Given the description of an element on the screen output the (x, y) to click on. 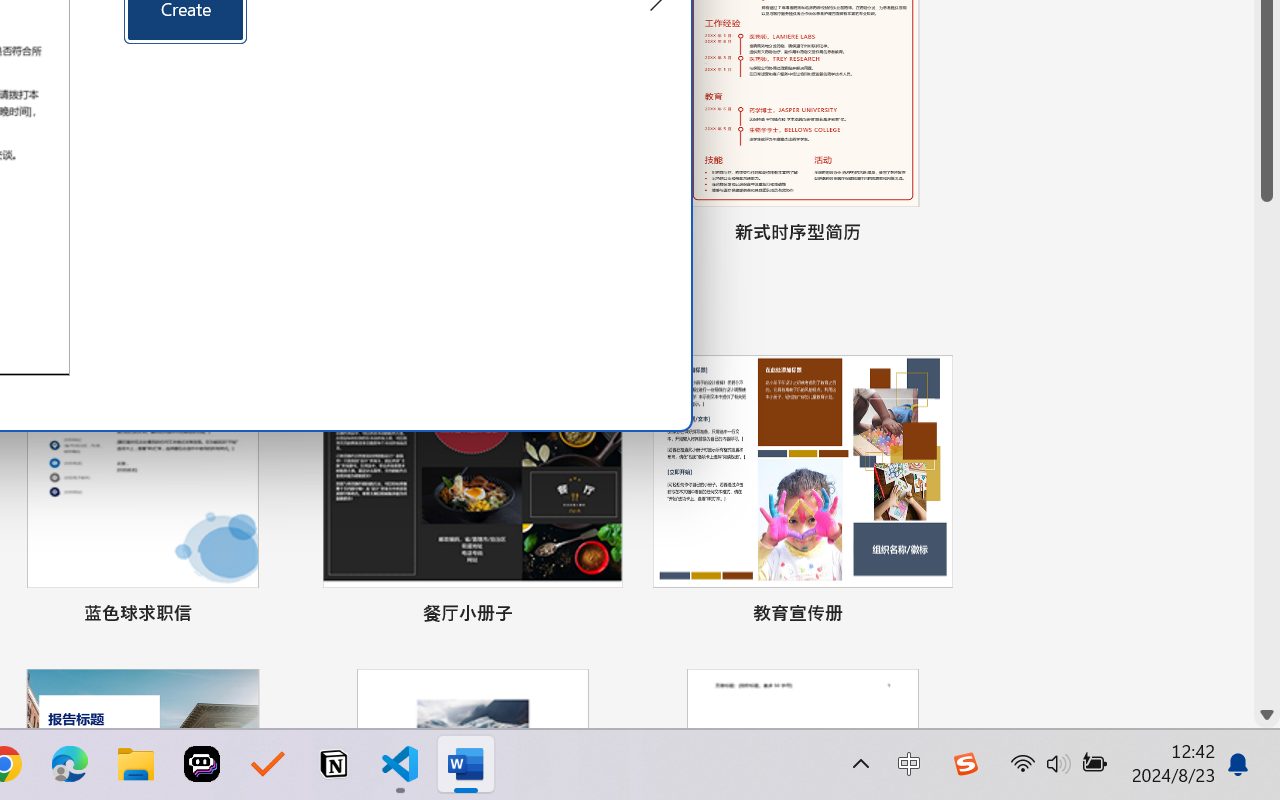
Expand (432, 173)
See more information on More by Miniclip.com (523, 255)
Play trailer (580, 27)
Scroll Next (203, 302)
